Given the description of an element on the screen output the (x, y) to click on. 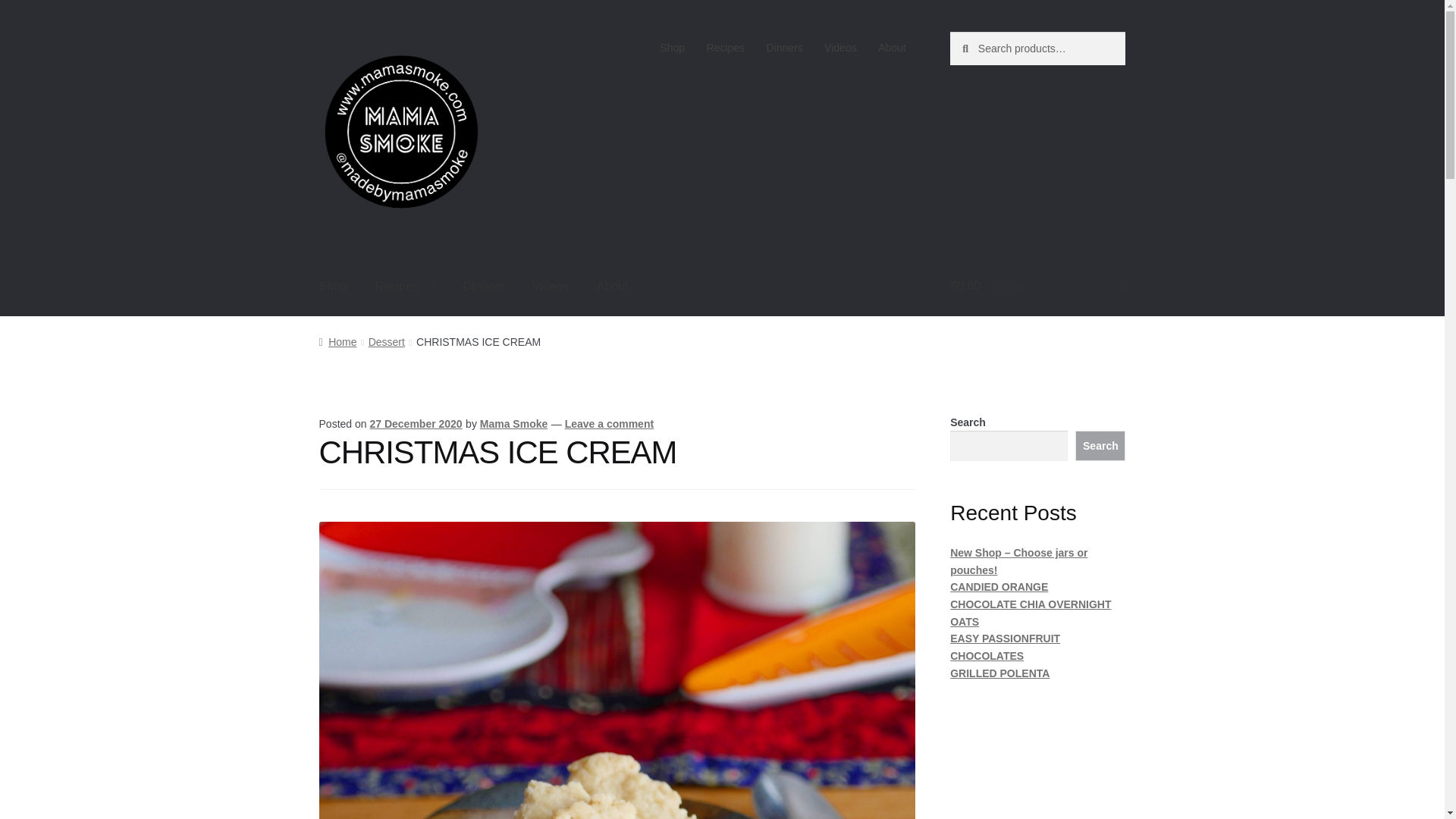
Videos (549, 286)
Dinners (482, 286)
Recipes (725, 47)
Recipes (404, 286)
About (612, 286)
View your shopping cart (1037, 286)
Shop (672, 47)
About (892, 47)
Videos (840, 47)
Dinners (784, 47)
